Given the description of an element on the screen output the (x, y) to click on. 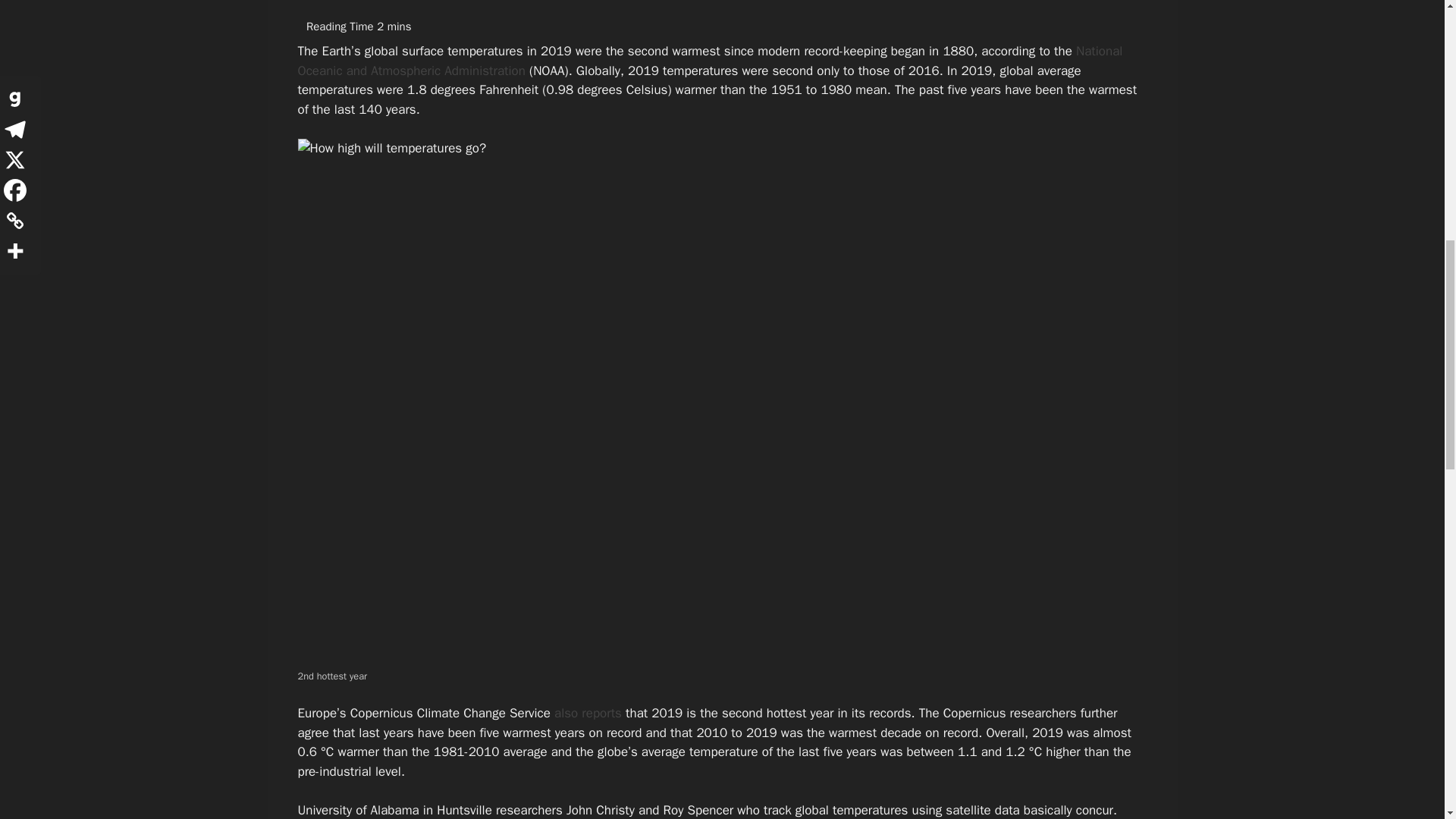
National Oceanic and Atmospheric Administration (709, 60)
also reports (587, 713)
